Given the description of an element on the screen output the (x, y) to click on. 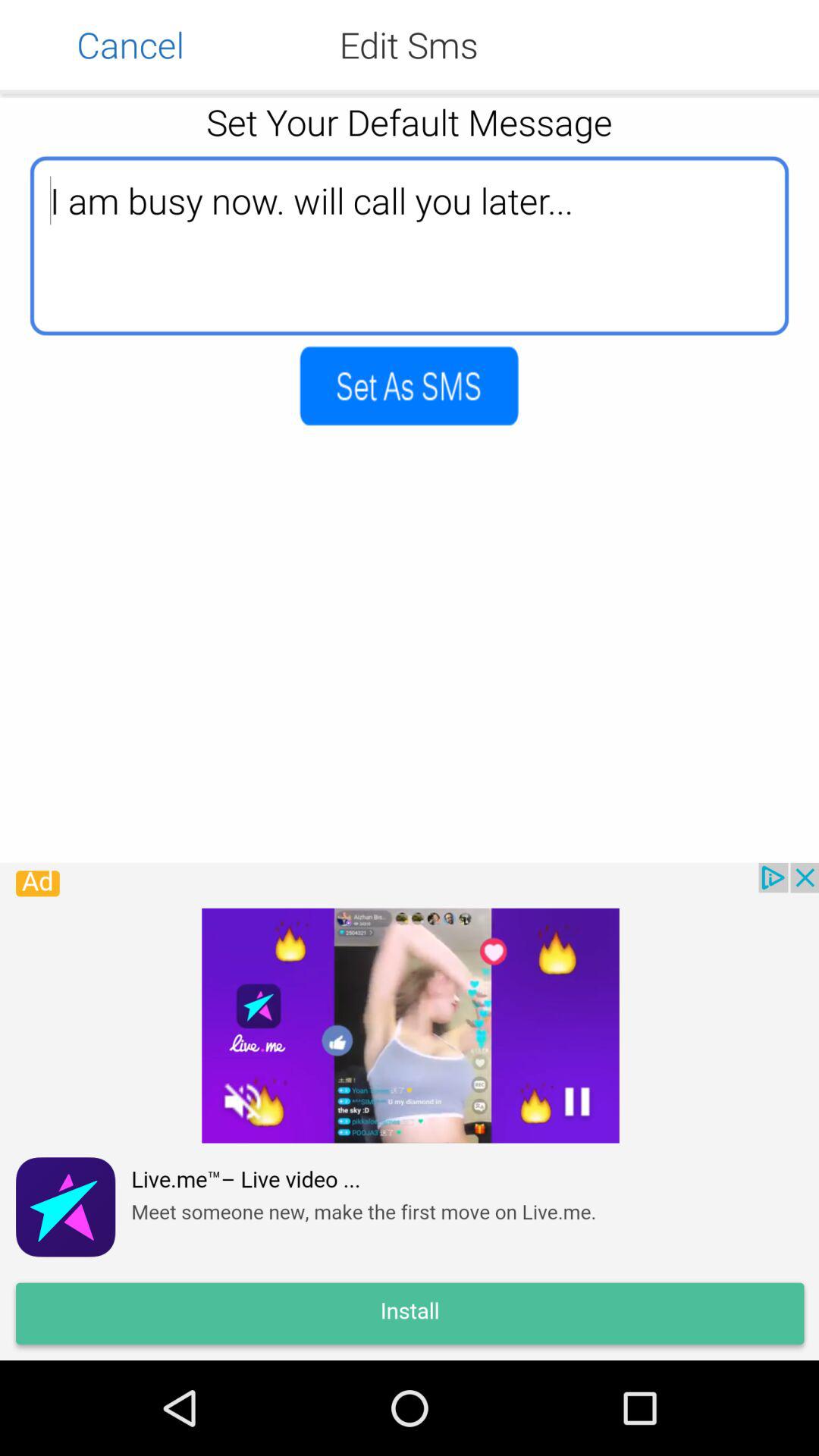
set default sms message (408, 385)
